Given the description of an element on the screen output the (x, y) to click on. 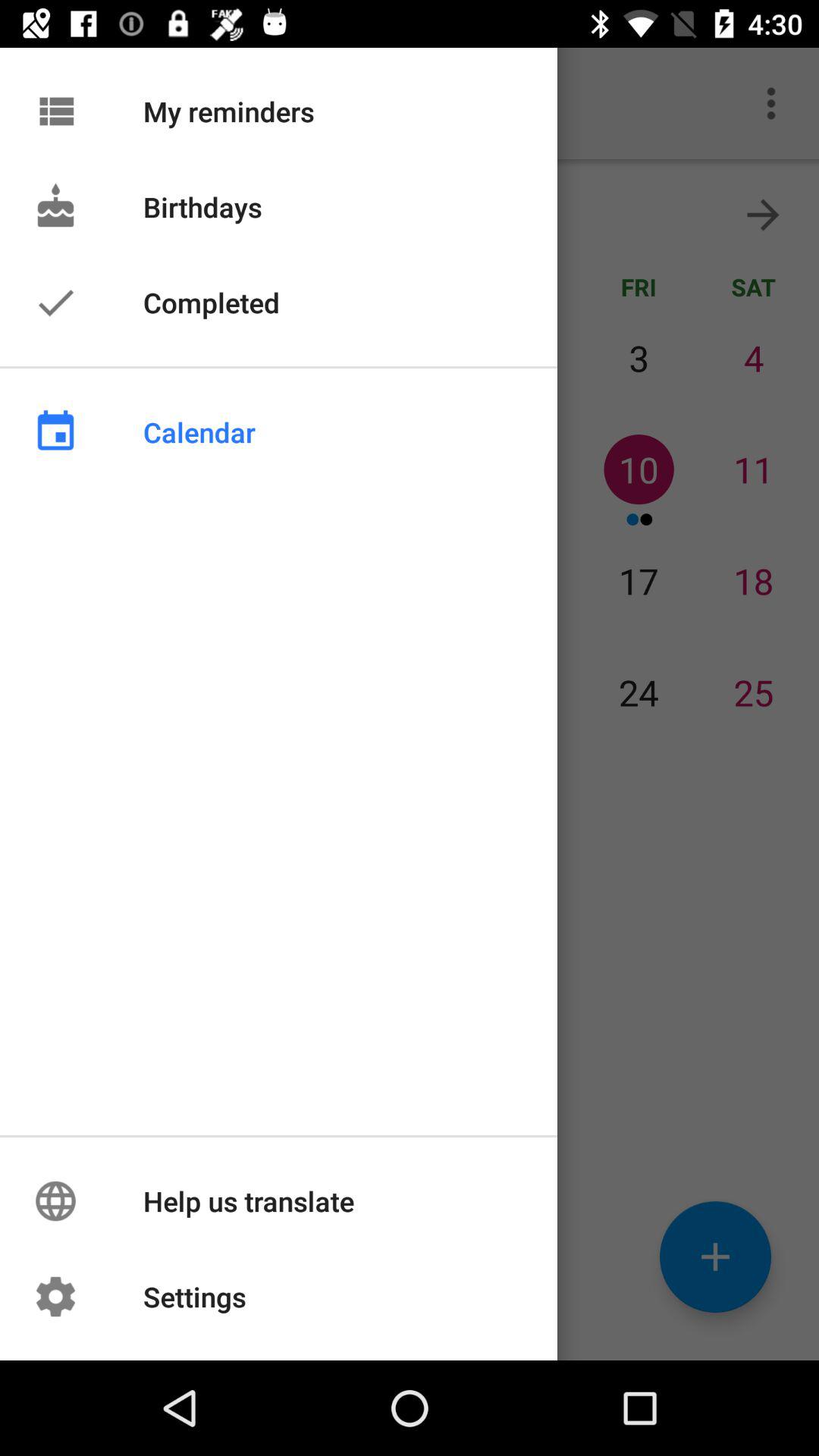
click on button arrow which is above sat (763, 214)
the three vertical dot icon at the top right corner (771, 103)
